Given the description of an element on the screen output the (x, y) to click on. 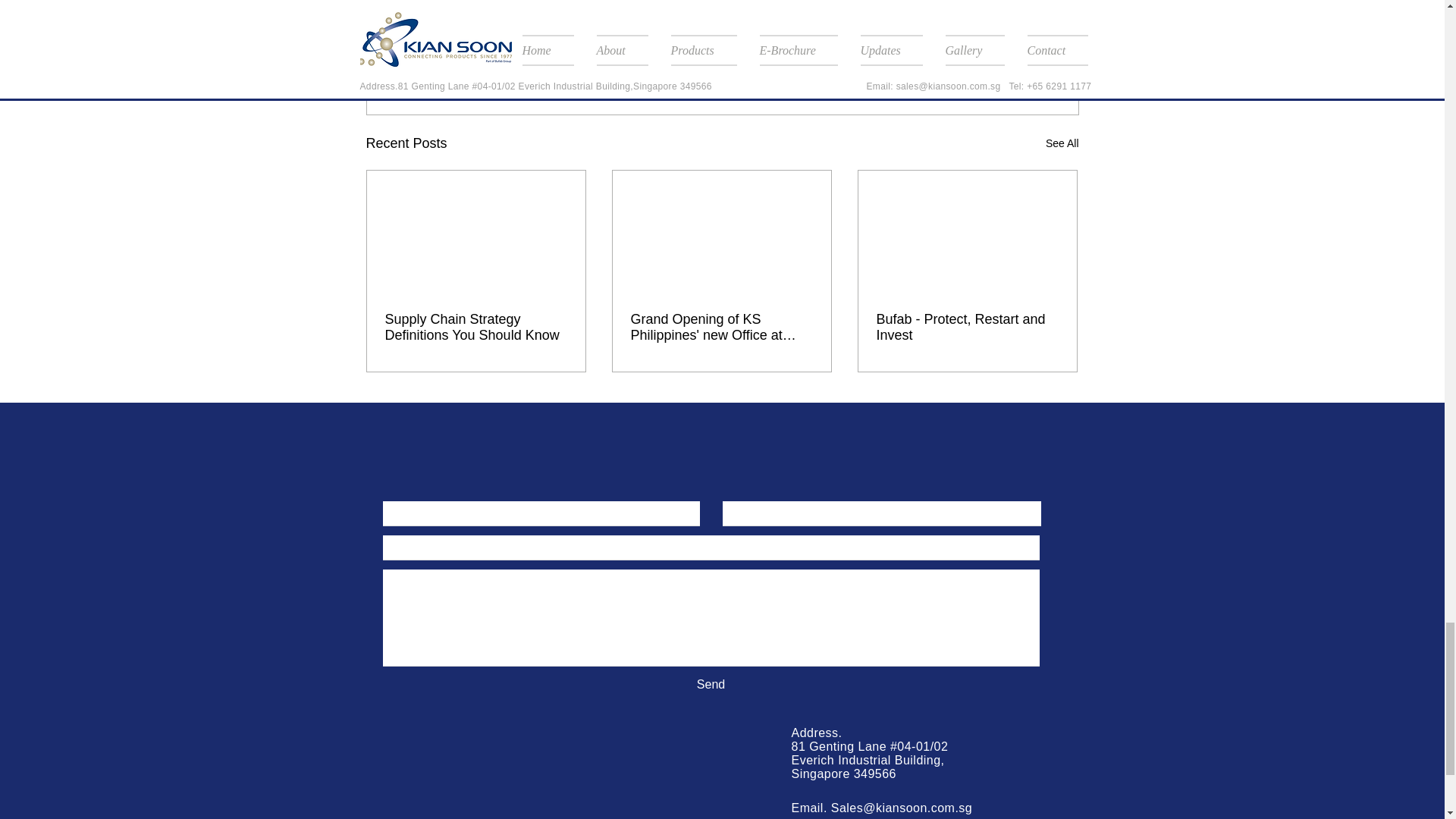
Company Updates (868, 46)
See All (1061, 143)
Bufab - Protect, Restart and Invest (967, 327)
Press Releases (965, 46)
Send (710, 684)
Supply Chain Strategy Definitions You Should Know (476, 327)
